Given the description of an element on the screen output the (x, y) to click on. 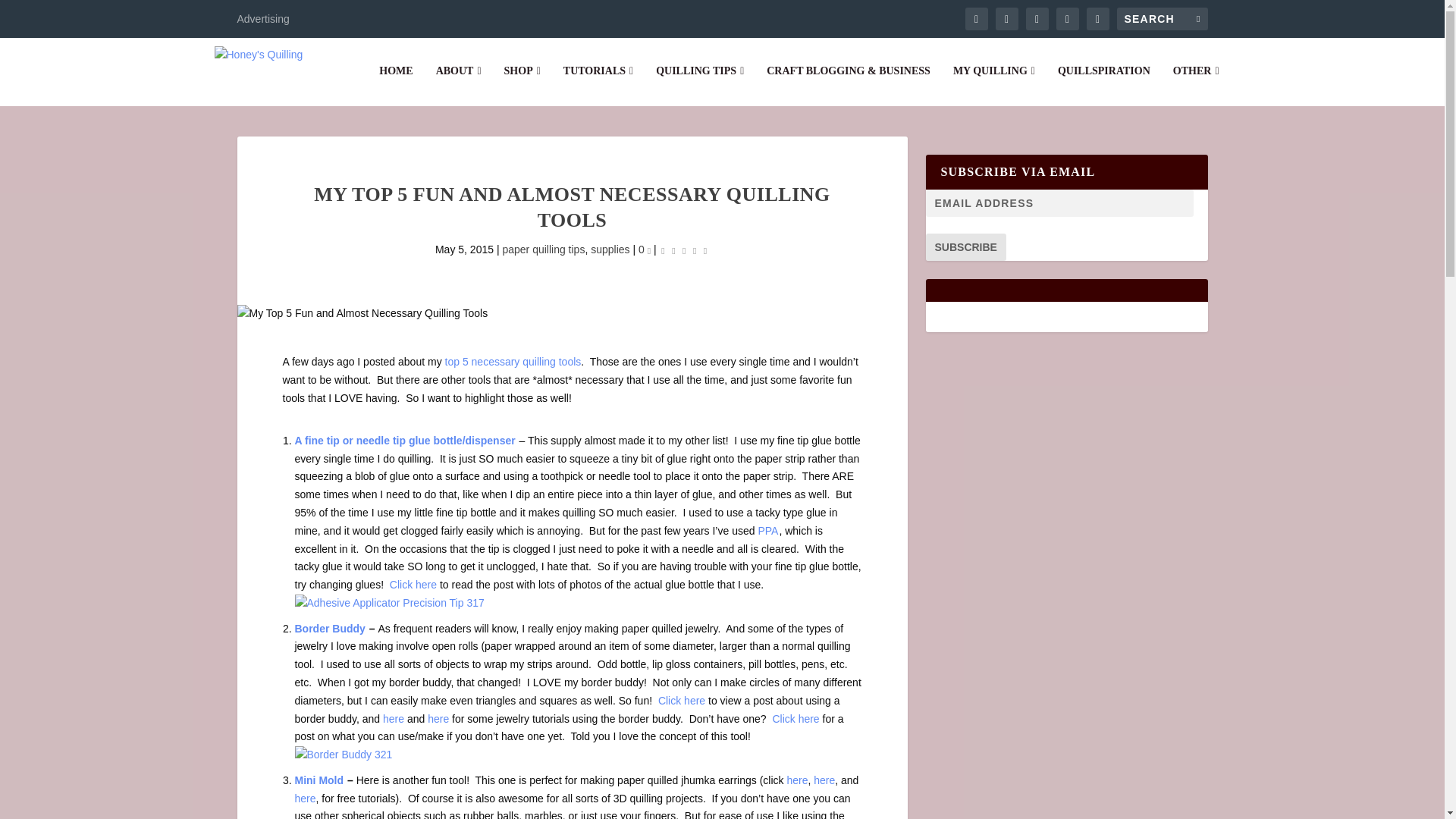
Advertising (261, 18)
QUILLING TIPS (700, 85)
ABOUT (458, 85)
SHOP (521, 85)
Rating: 0.00 (684, 250)
MY QUILLING (994, 85)
TUTORIALS (598, 85)
Search for: (1161, 18)
